Given the description of an element on the screen output the (x, y) to click on. 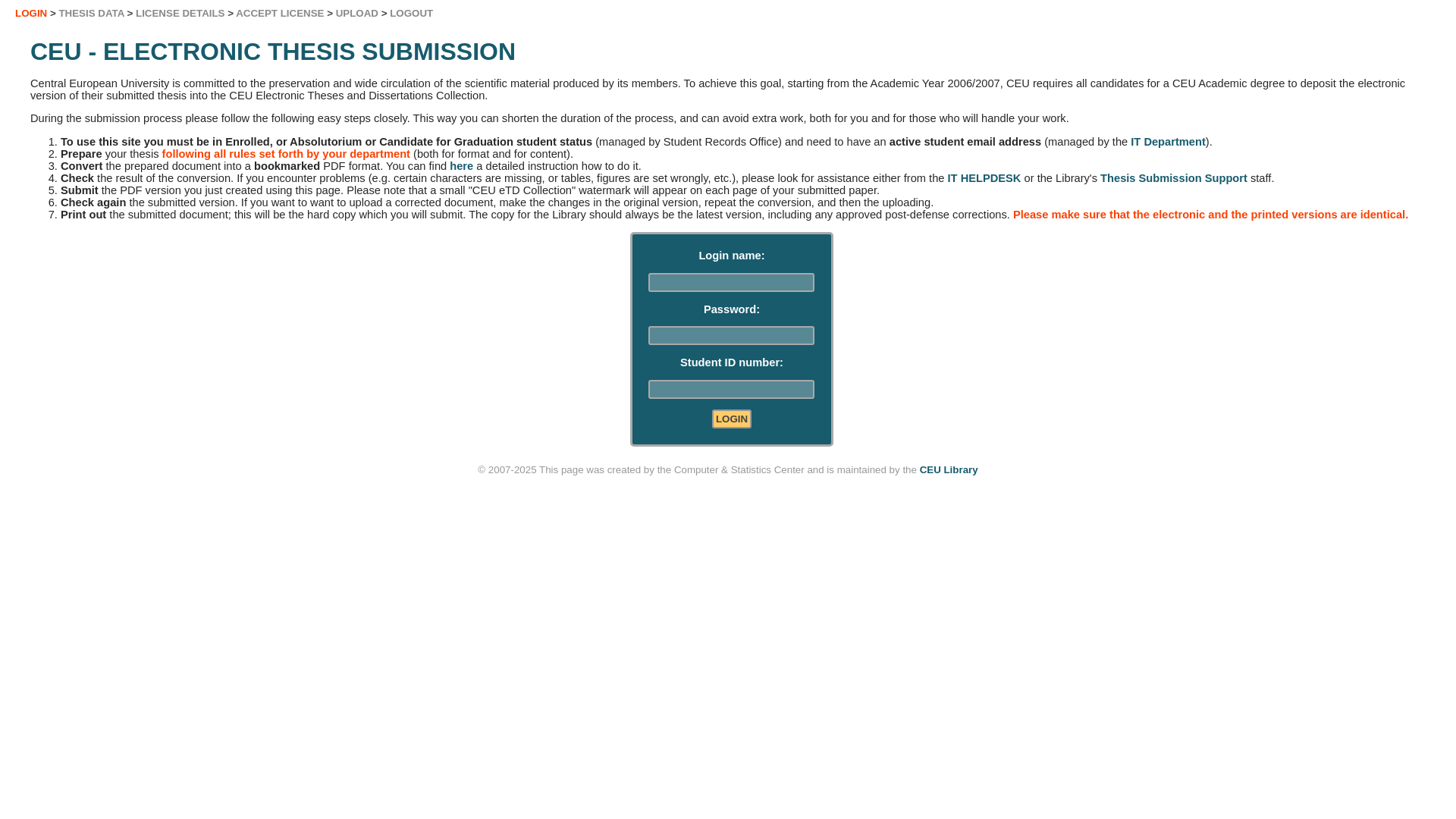
here (461, 165)
LOGIN (731, 418)
IT Department (1168, 141)
Thesis Submission Support (1173, 177)
LOGIN (731, 418)
IT HELPDESK (984, 177)
